Given the description of an element on the screen output the (x, y) to click on. 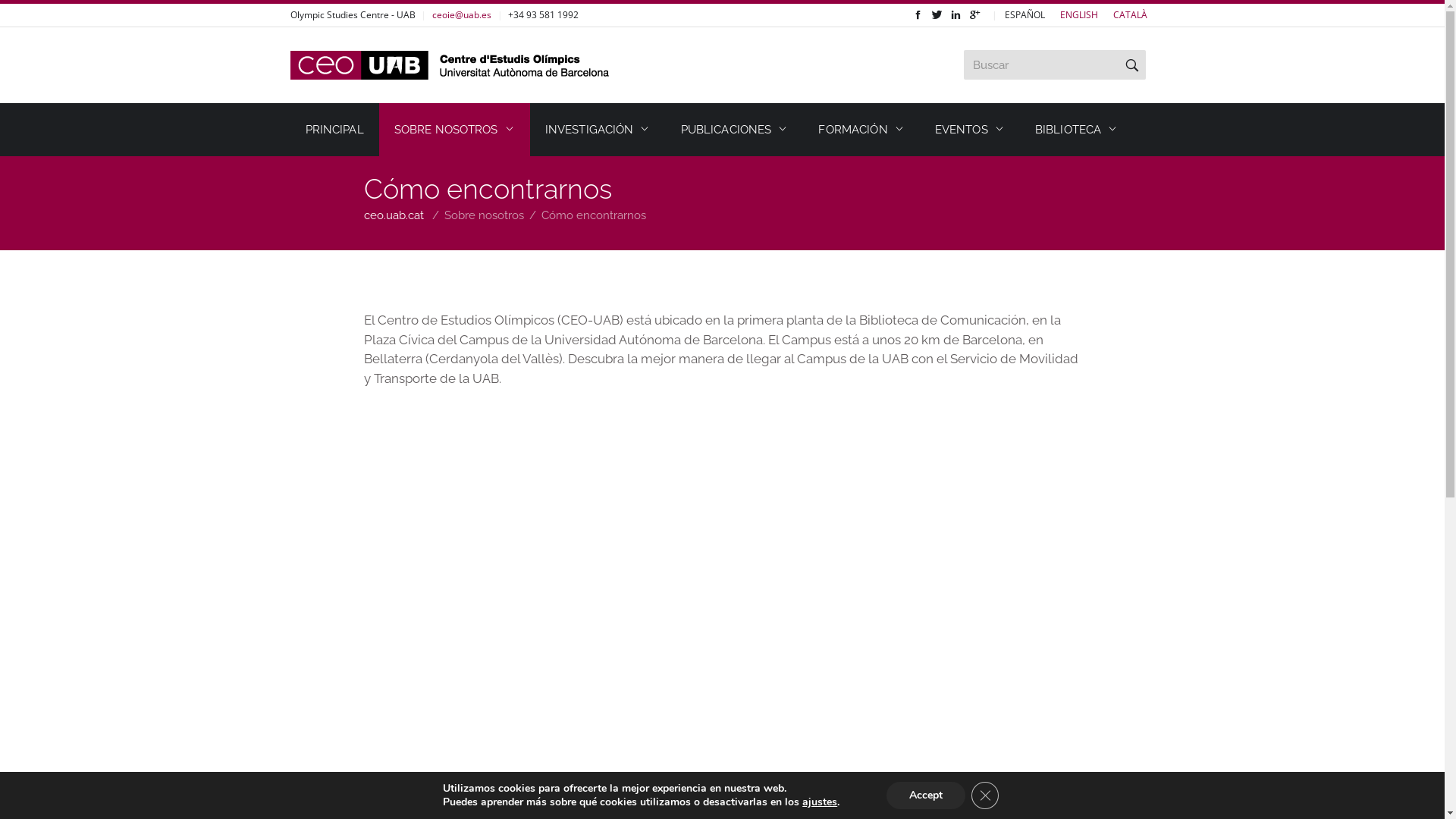
ceo.uab.cat Element type: text (393, 214)
Accept Element type: text (925, 795)
PUBLICACIONES Element type: text (734, 129)
ceo.uab.cat Element type: hover (449, 65)
Linkedin Element type: hover (955, 14)
Close GDPR Cookie Banner Element type: text (984, 795)
Google+ Element type: hover (973, 14)
ceoie@uab.es Element type: text (461, 14)
ENGLISH Element type: text (1078, 14)
SOBRE NOSOTROS Element type: text (454, 129)
BIBLIOTECA Element type: text (1075, 129)
Buscar Element type: hover (1131, 64)
Facebook Element type: hover (917, 14)
Twitter Element type: hover (935, 14)
PRINCIPAL Element type: text (333, 129)
Sobre nosotros Element type: text (484, 214)
EVENTOS Element type: text (969, 129)
